Given the description of an element on the screen output the (x, y) to click on. 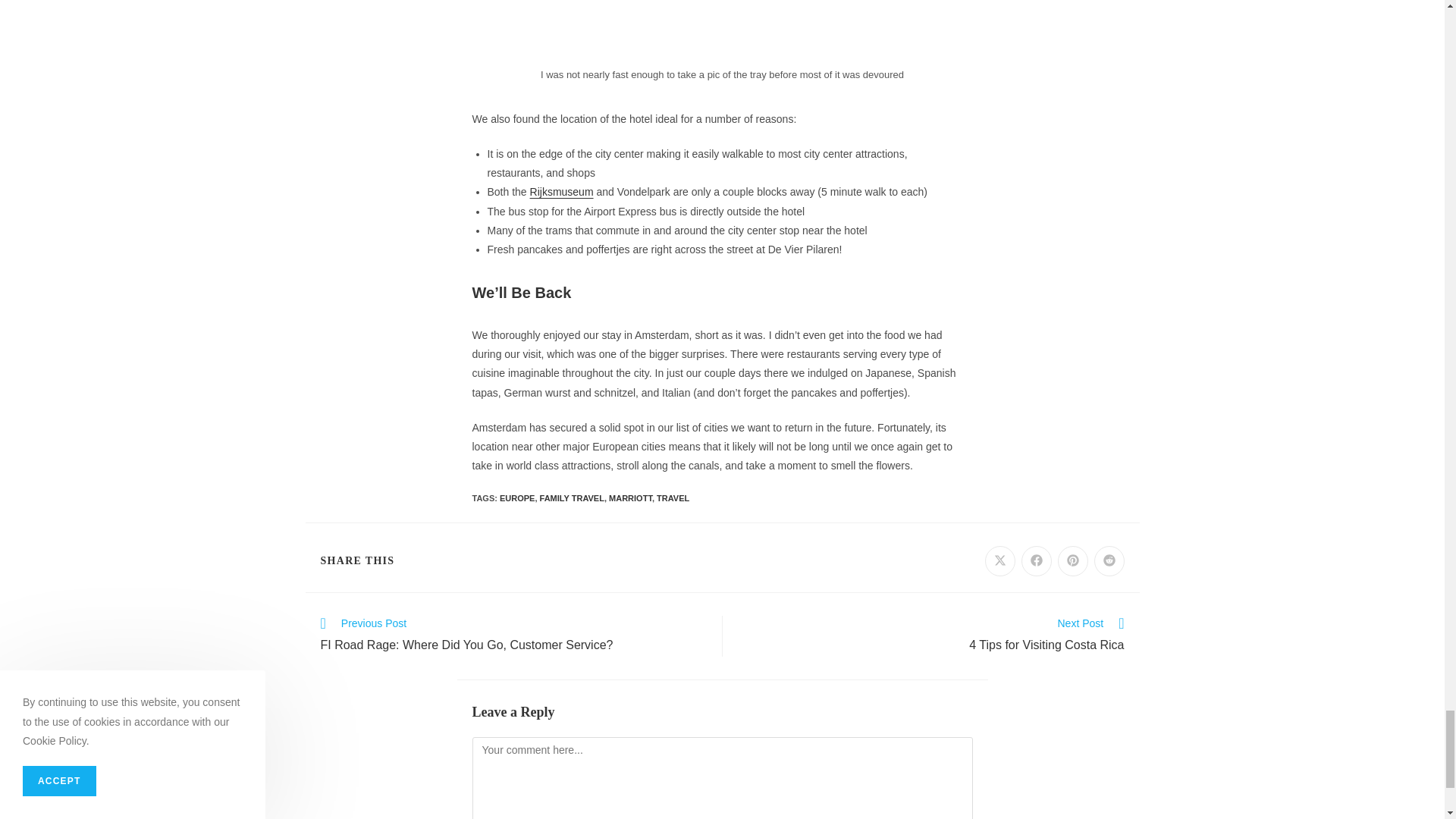
TRAVEL (672, 497)
Rijksmuseum (561, 191)
FAMILY TRAVEL (572, 497)
EUROPE (516, 497)
MARRIOTT (630, 497)
